Given the description of an element on the screen output the (x, y) to click on. 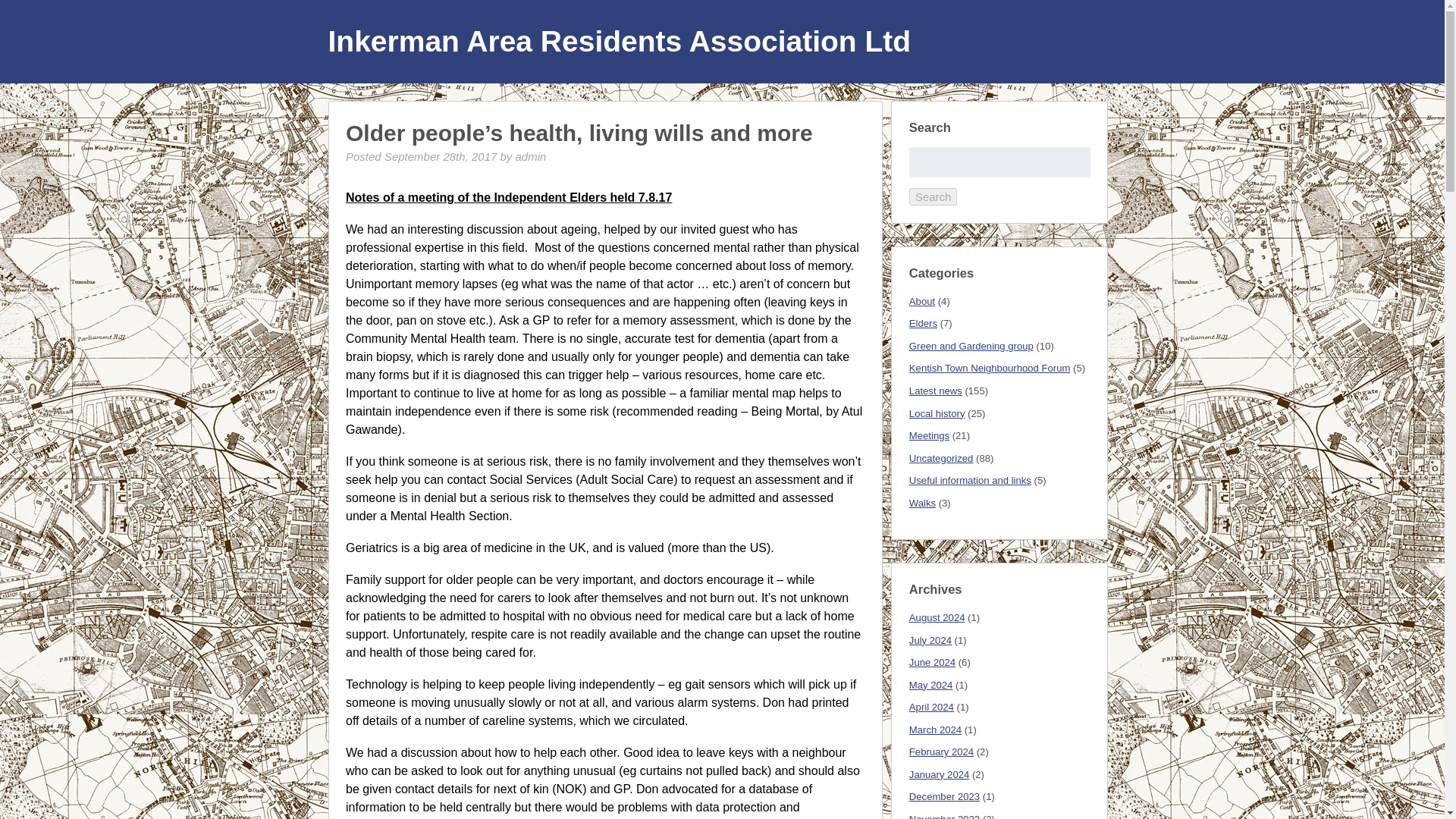
May 2024 (930, 685)
February 2024 (941, 751)
November 2023 (943, 816)
Kentish Town Neighbourhood Forum (989, 367)
August 2024 (936, 617)
January 2024 (938, 774)
About (921, 301)
Uncategorized (941, 458)
June 2024 (931, 662)
April 2024 (930, 706)
